Given the description of an element on the screen output the (x, y) to click on. 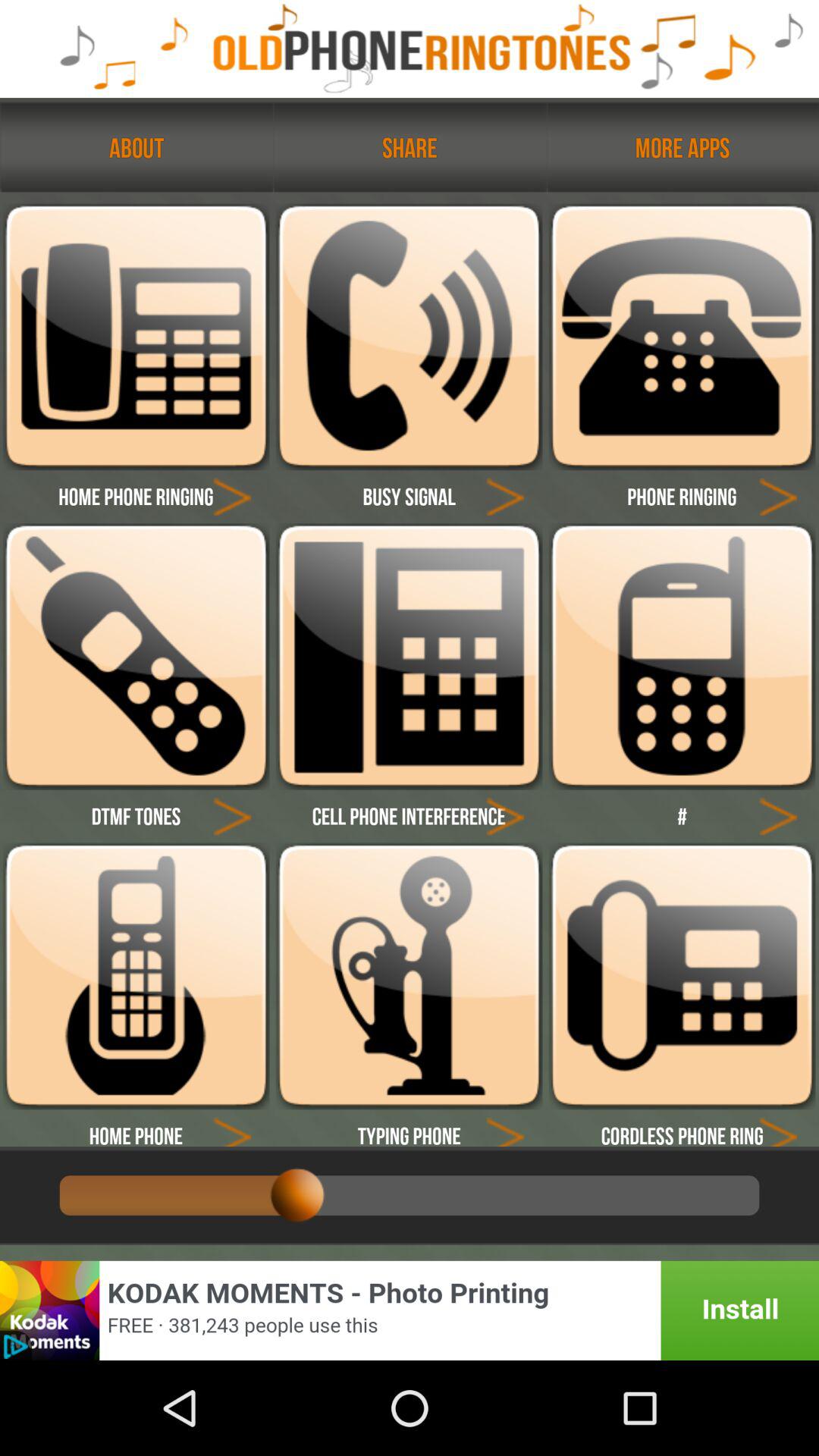
go to previous (778, 1127)
